Given the description of an element on the screen output the (x, y) to click on. 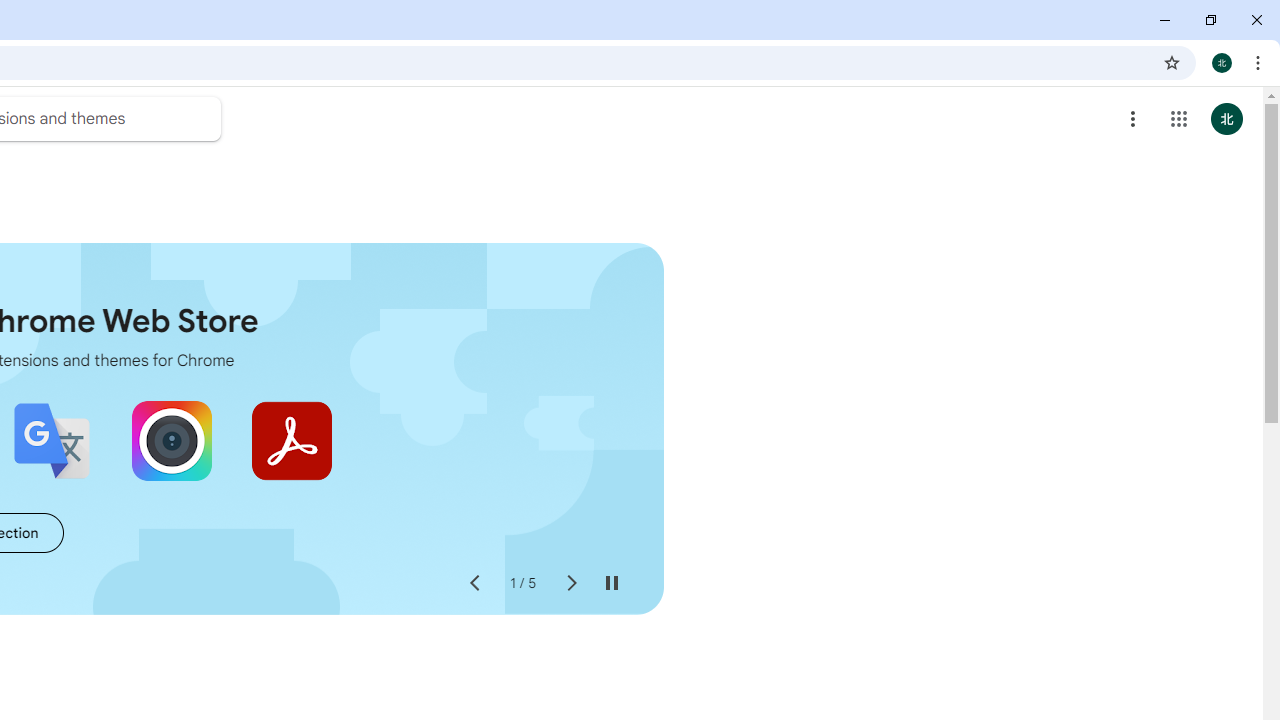
Awesome Screen Recorder & Screenshot (171, 440)
More options menu (1133, 118)
Adobe Acrobat: PDF edit, convert, sign tools (291, 440)
Next slide (570, 583)
Pause auto-play (611, 583)
Previous slide (474, 583)
